Given the description of an element on the screen output the (x, y) to click on. 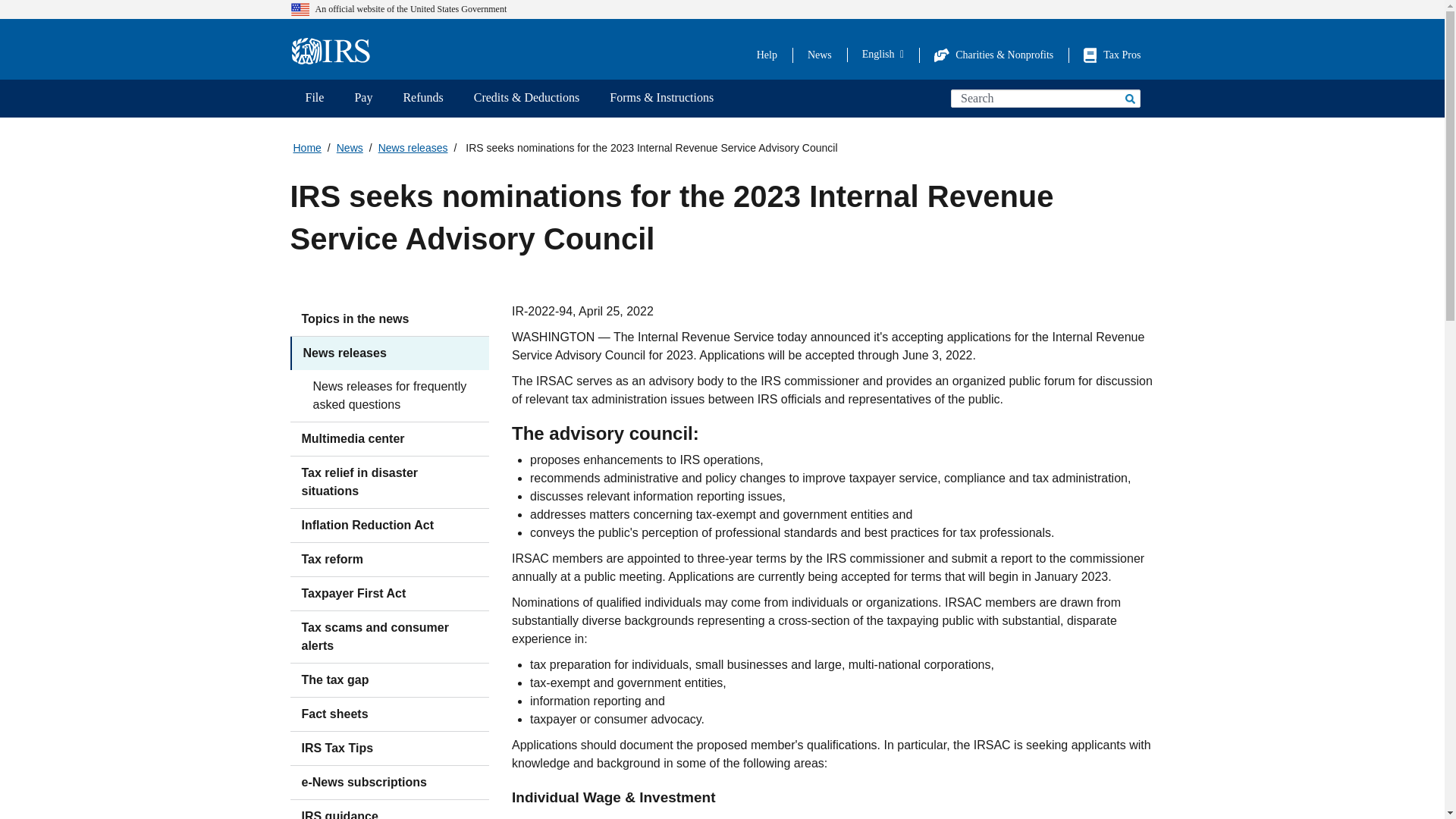
English (882, 54)
Pay (363, 98)
Tax Pros (1111, 55)
Home (335, 51)
File (314, 98)
Search (1129, 98)
